Given the description of an element on the screen output the (x, y) to click on. 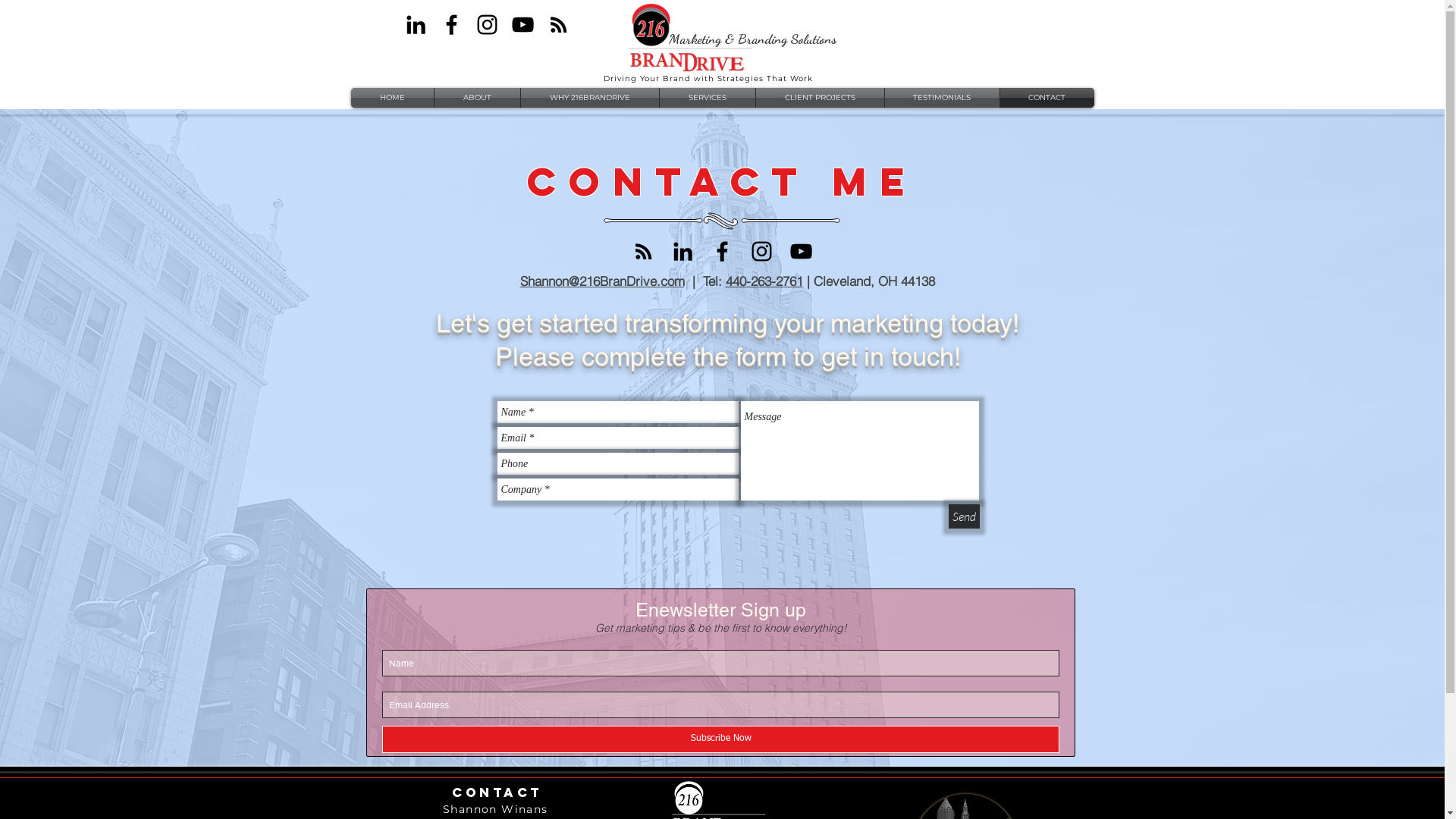
Facebook Like Element type: hover (430, 51)
440-263-2761 Element type: text (763, 280)
Shannon@216BranDrive.com Element type: text (602, 280)
WHY 216BRANDRIVE Element type: text (589, 97)
TESTIMONIALS Element type: text (941, 97)
ABOUT Element type: text (476, 97)
HOME Element type: text (391, 97)
SERVICES Element type: text (707, 97)
Wix Get Subscribers Element type: hover (719, 672)
Send Element type: text (963, 516)
CONTACT Element type: text (1046, 97)
CLIENT PROJECTS Element type: text (819, 97)
Site Search Element type: hover (996, 34)
